Given the description of an element on the screen output the (x, y) to click on. 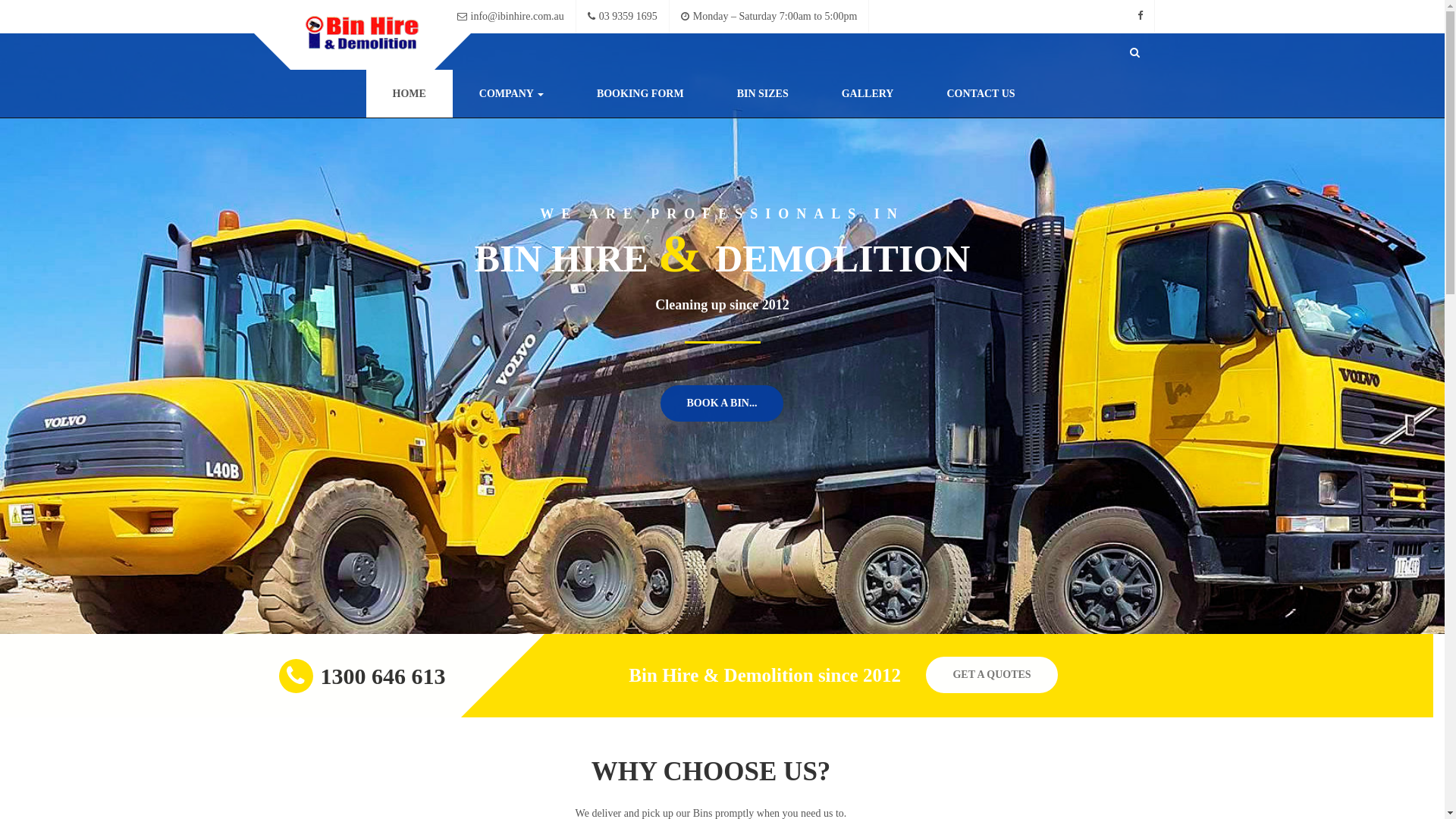
info@ibinhire.com.au Element type: text (510, 16)
COMPANY Element type: text (511, 93)
BOOK A BIN... Element type: text (722, 403)
GALLERY Element type: text (867, 93)
03 9359 1695 Element type: text (622, 16)
GET A QUOTES Element type: text (991, 674)
CONTACT US Element type: text (980, 93)
BIN SIZES Element type: text (762, 93)
BOOKING FORM Element type: text (640, 93)
HOME Element type: text (408, 93)
